Given the description of an element on the screen output the (x, y) to click on. 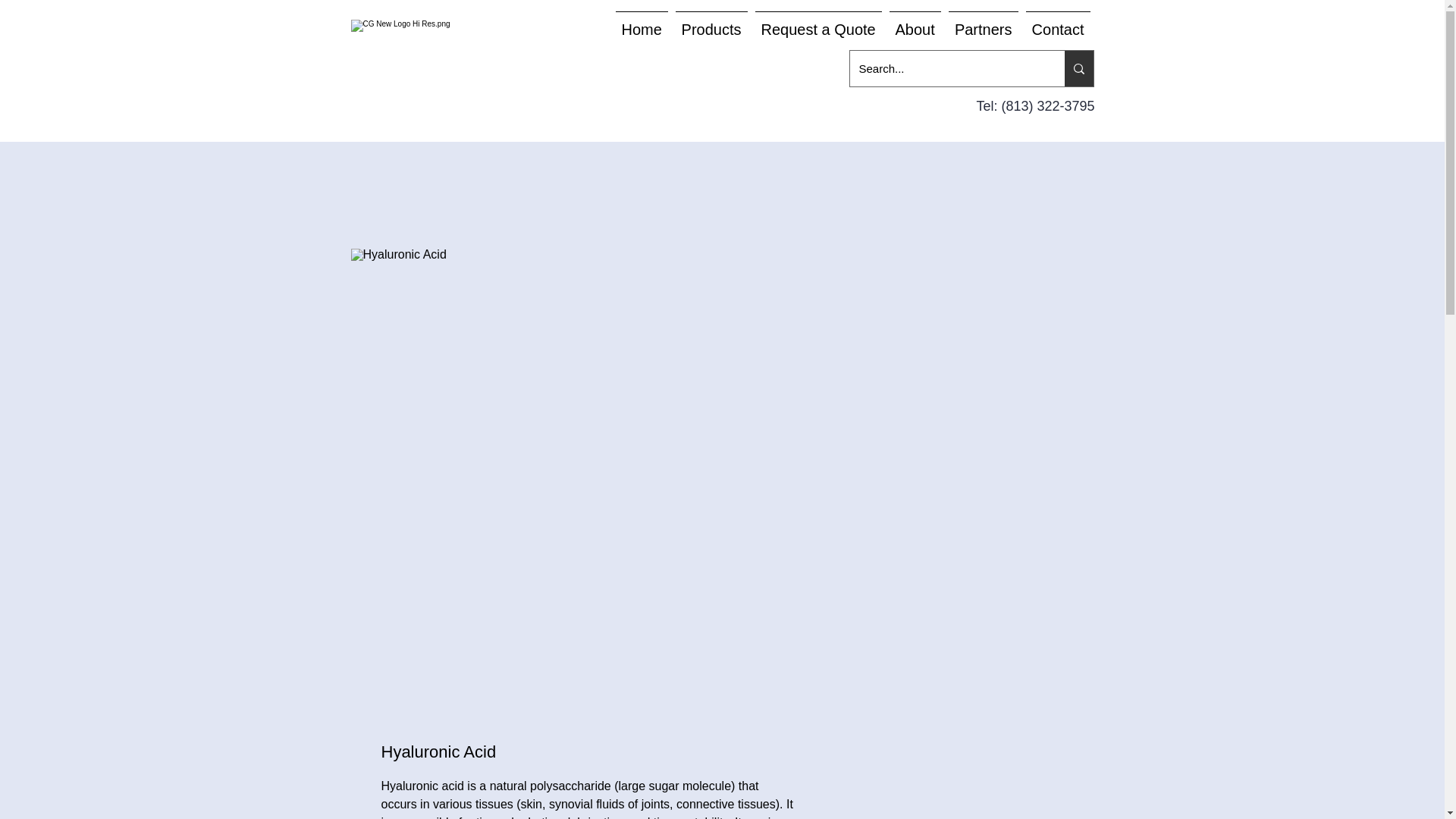
Products (711, 23)
Request a Quote (818, 23)
About (914, 23)
Home (641, 23)
Contact (1058, 23)
Partners (983, 23)
